Given the description of an element on the screen output the (x, y) to click on. 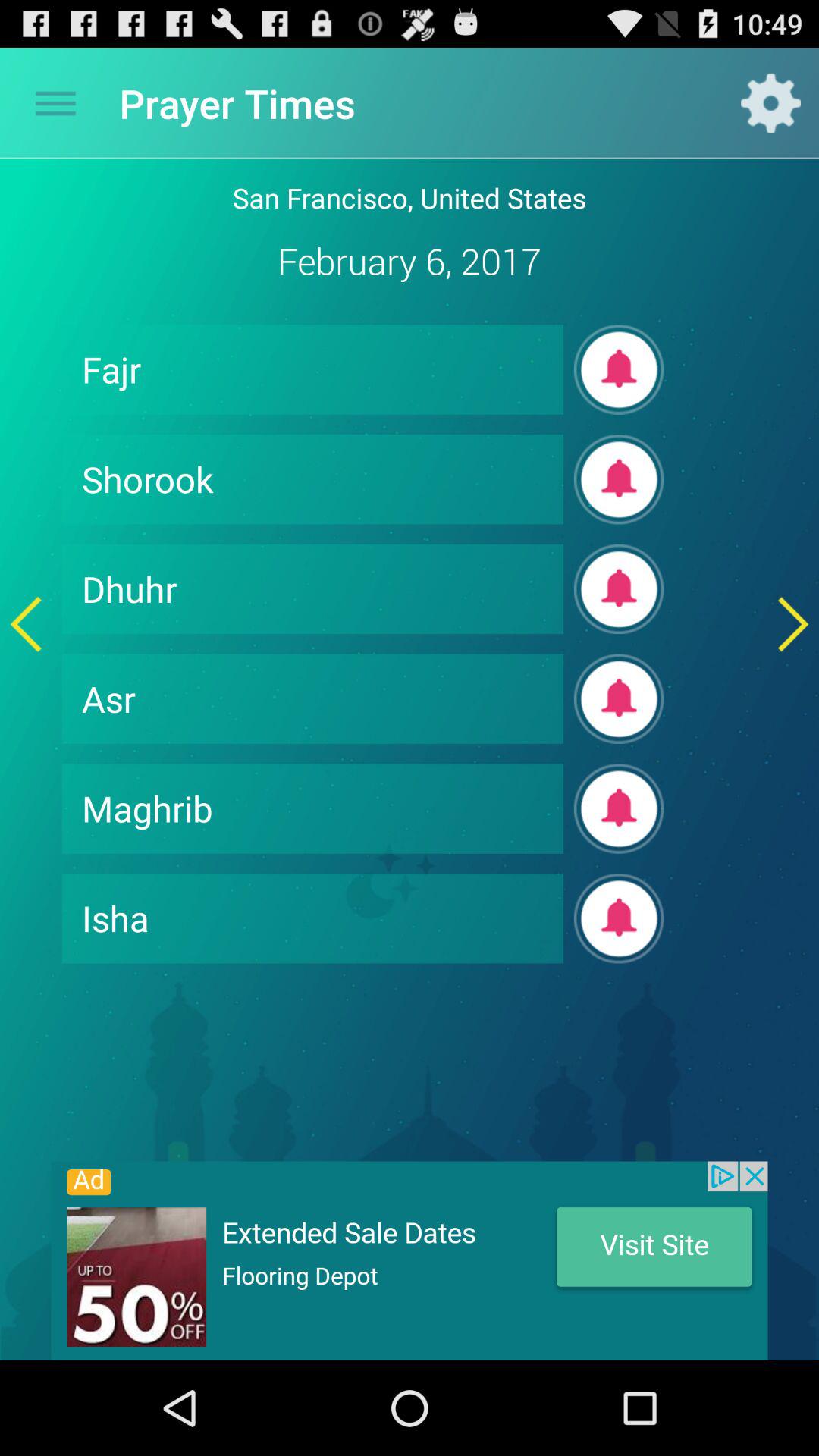
memo back option (25, 624)
